Given the description of an element on the screen output the (x, y) to click on. 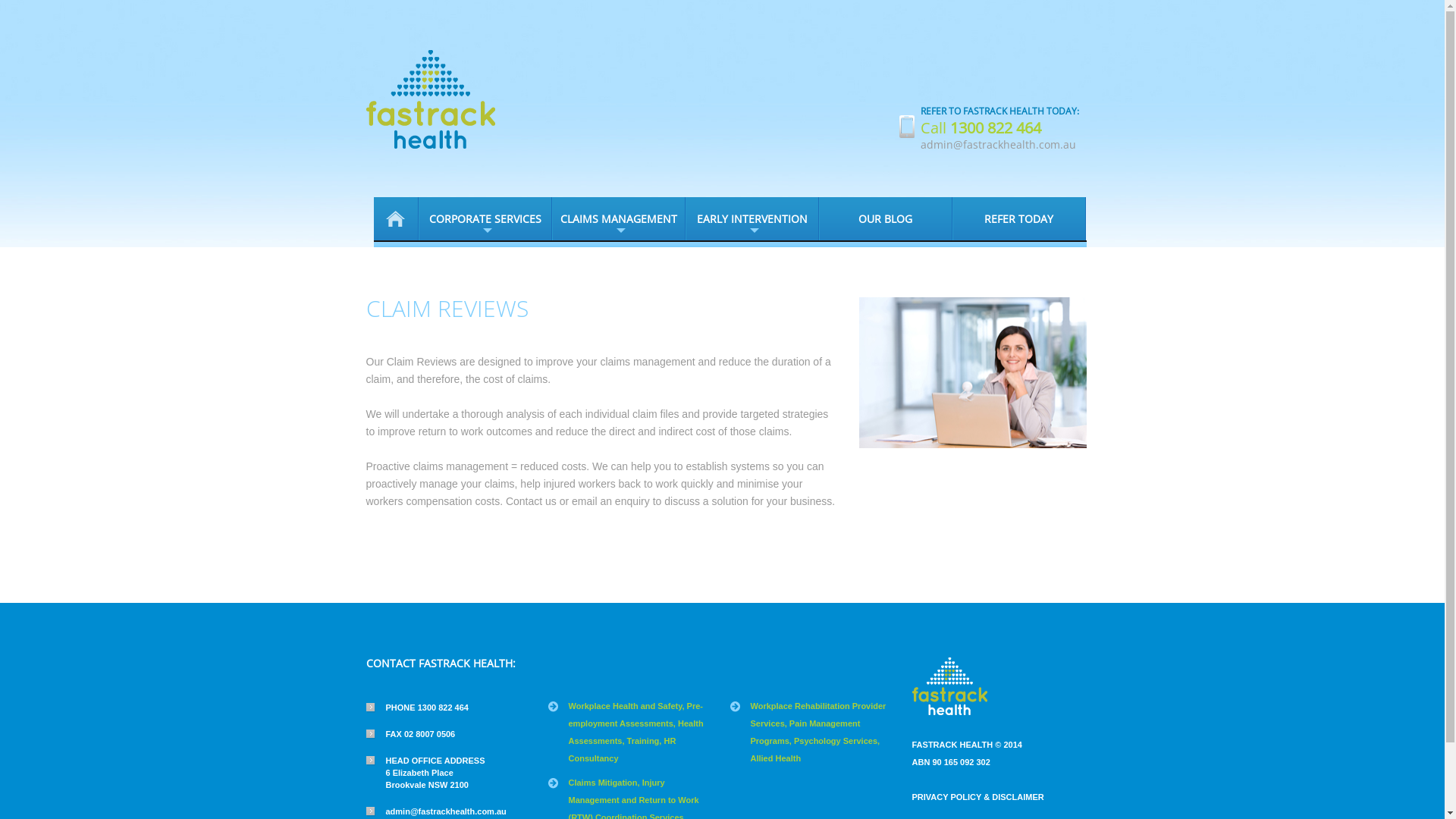
REFER TODAY Element type: text (1018, 218)
HEAD OFFICE ADDRESS
6 Elizabeth Place
Brookvale NSW 2100 Element type: text (424, 772)
OUR BLOG Element type: text (885, 218)
admin@fastrackhealth.com.au Element type: text (998, 144)
PHONE 1300 822 464 Element type: text (416, 707)
PRIVACY POLICY & DISCLAIMER Element type: text (977, 796)
FAX 02 8007 0506 Element type: text (410, 734)
admin@fastrackhealth.com.au Element type: text (435, 811)
